Given the description of an element on the screen output the (x, y) to click on. 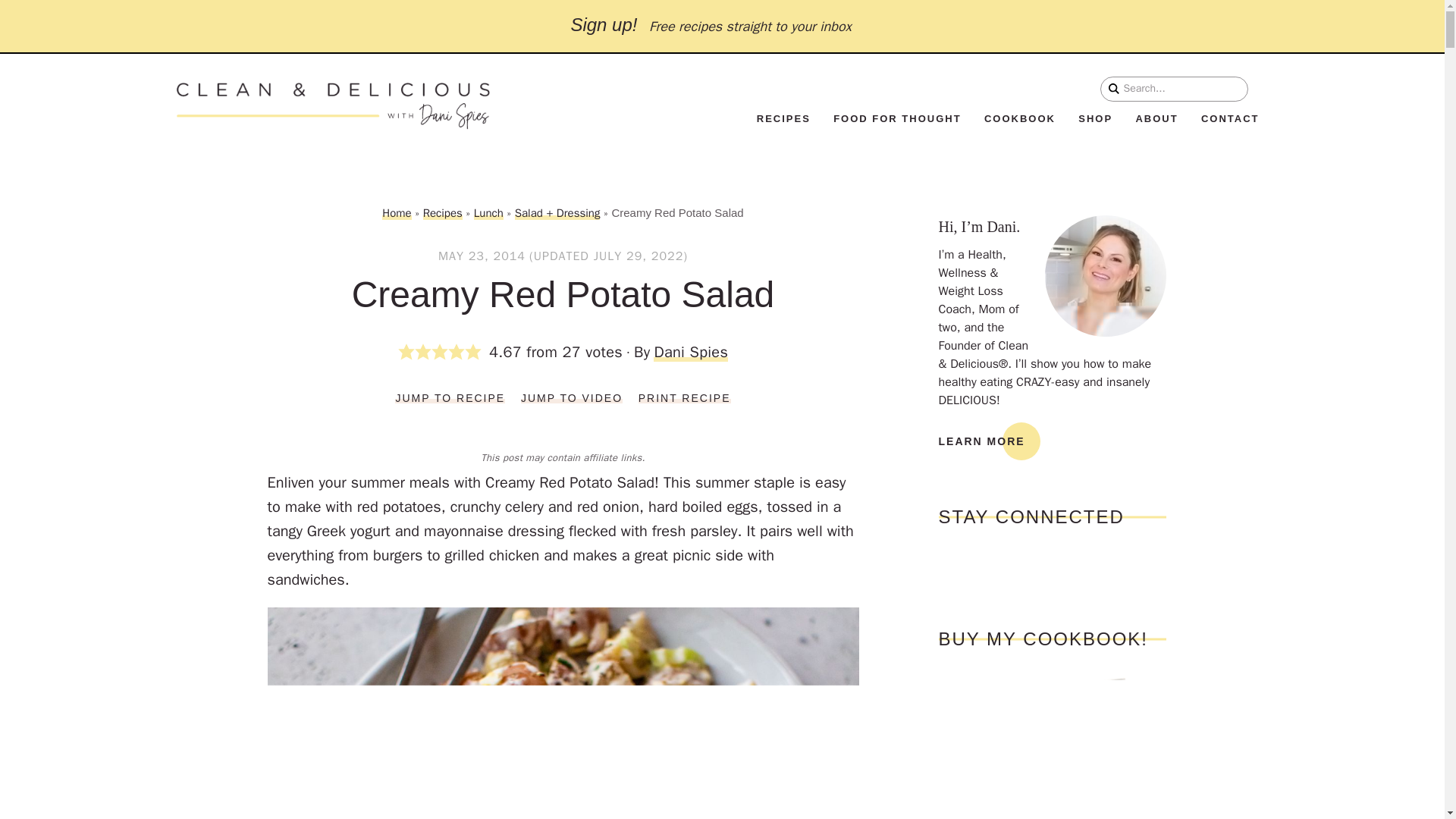
Lunch (488, 213)
ABOUT (1156, 118)
4.67 from 27 votes (515, 352)
RECIPES (783, 118)
Home (395, 213)
FOOD FOR THOUGHT (896, 118)
Dani Spies (690, 352)
SHOP (1095, 118)
JUMP TO VIDEO (572, 398)
Recipes (443, 213)
